Given the description of an element on the screen output the (x, y) to click on. 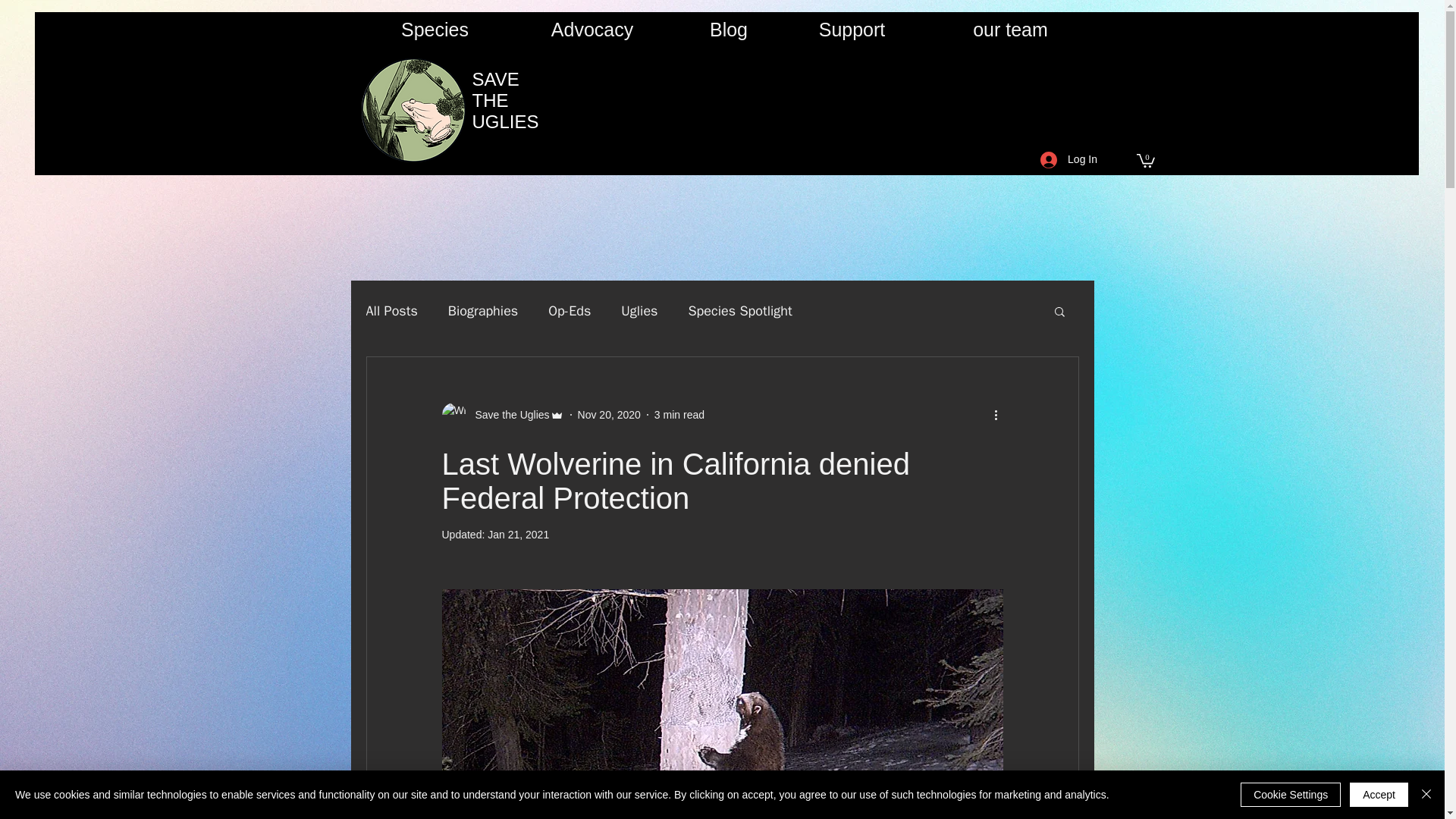
3 min read (678, 414)
Species (434, 28)
Advocacy (591, 28)
0 (1145, 159)
our team (1009, 28)
Log In (1068, 159)
Nov 20, 2020 (609, 414)
Op-Eds (569, 311)
0 (1145, 159)
All Posts (390, 311)
Uglies (639, 311)
Blog (729, 28)
Save the Uglies (502, 414)
Jan 21, 2021 (517, 534)
Support (851, 28)
